Given the description of an element on the screen output the (x, y) to click on. 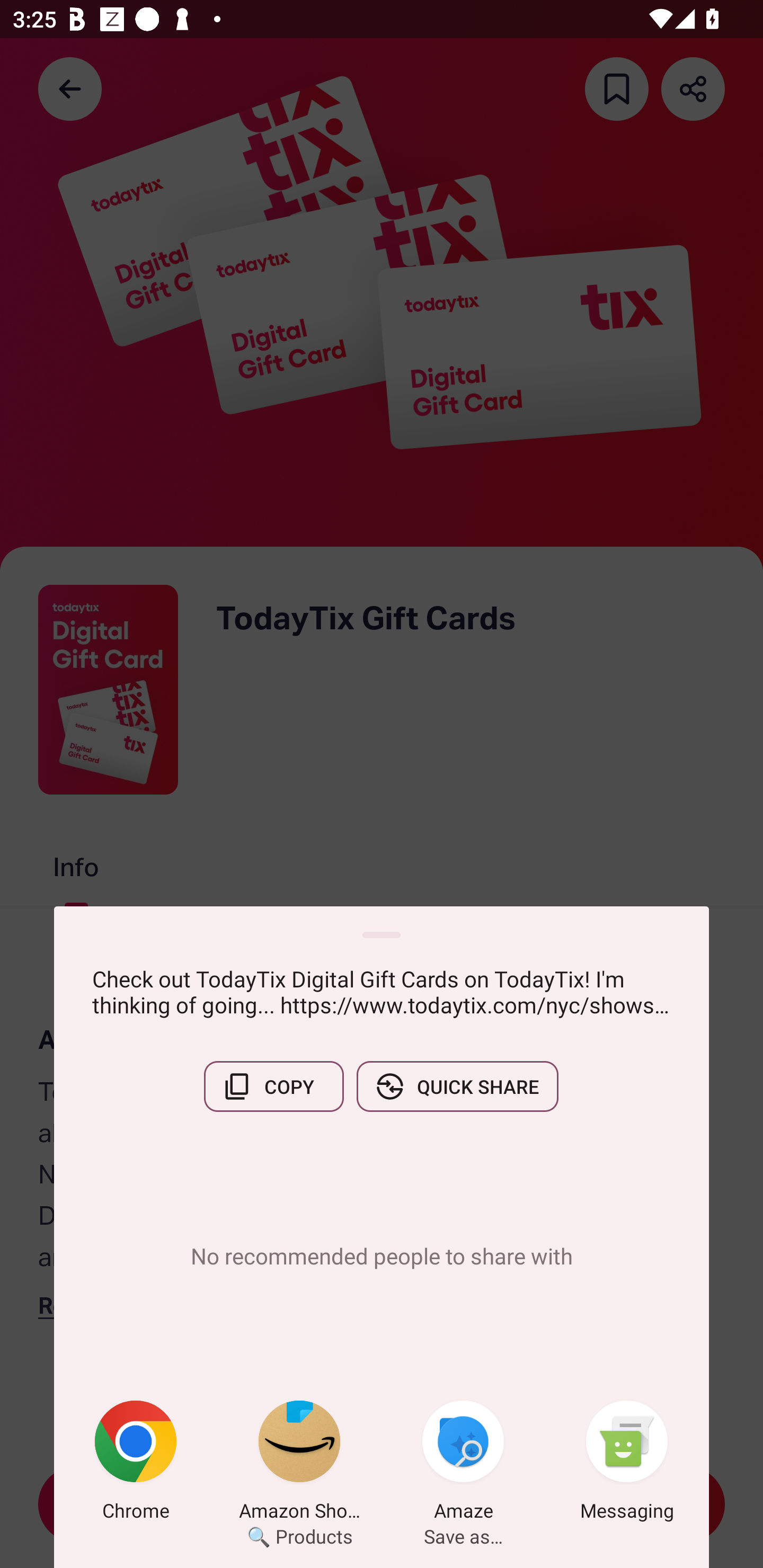
COPY (273, 1086)
QUICK SHARE (457, 1086)
Chrome (135, 1463)
Amazon Shopping 🔍 Products (299, 1463)
Amaze Save as… (463, 1463)
Messaging (626, 1463)
